Given the description of an element on the screen output the (x, y) to click on. 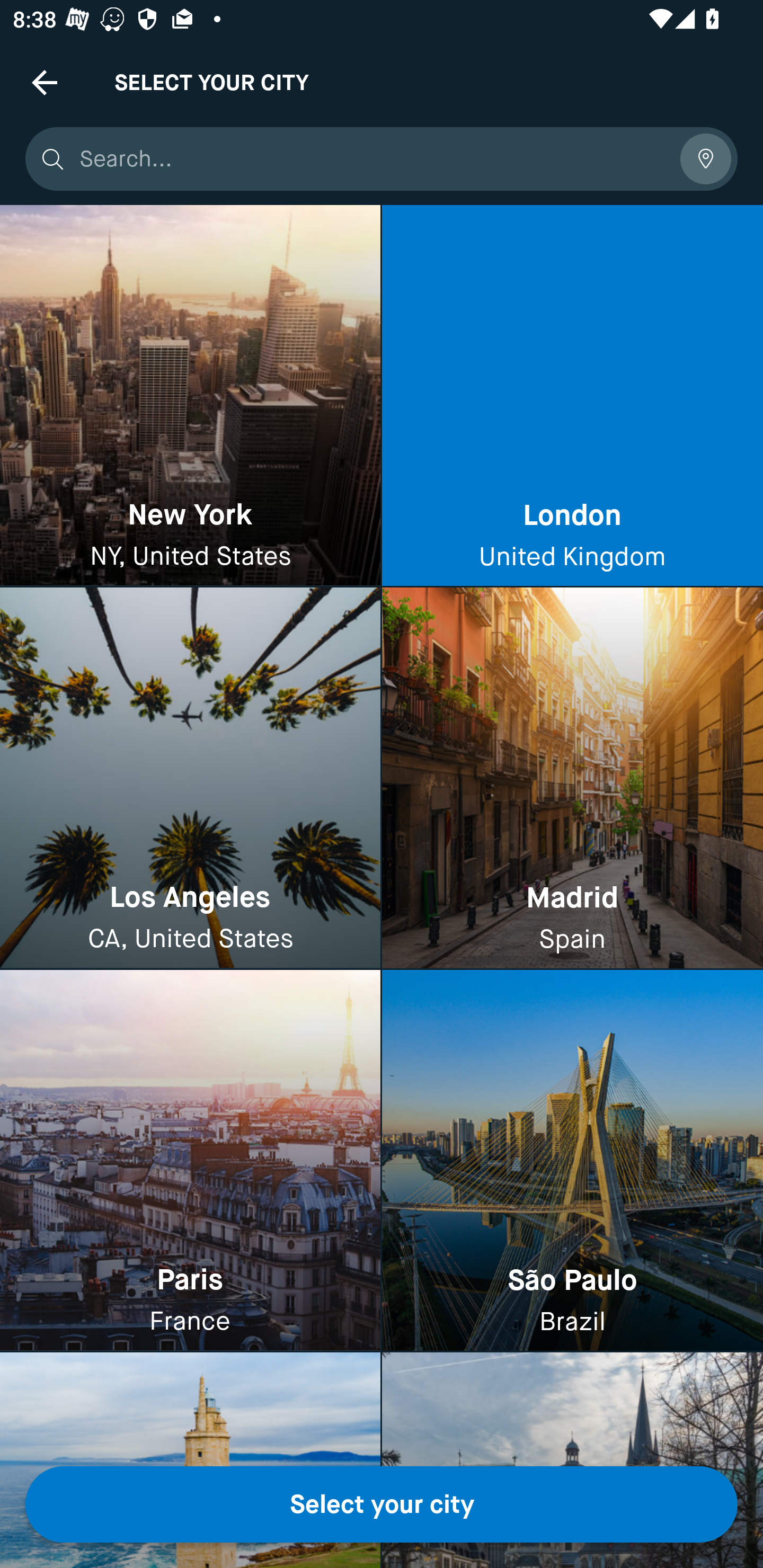
Navigate up (44, 82)
Search... (373, 159)
New York NY, United States (190, 395)
London United Kingdom (572, 395)
Los Angeles CA, United States (190, 778)
Madrid Spain (572, 778)
Paris France (190, 1160)
São Paulo Brazil (572, 1160)
Select your city (381, 1504)
